Given the description of an element on the screen output the (x, y) to click on. 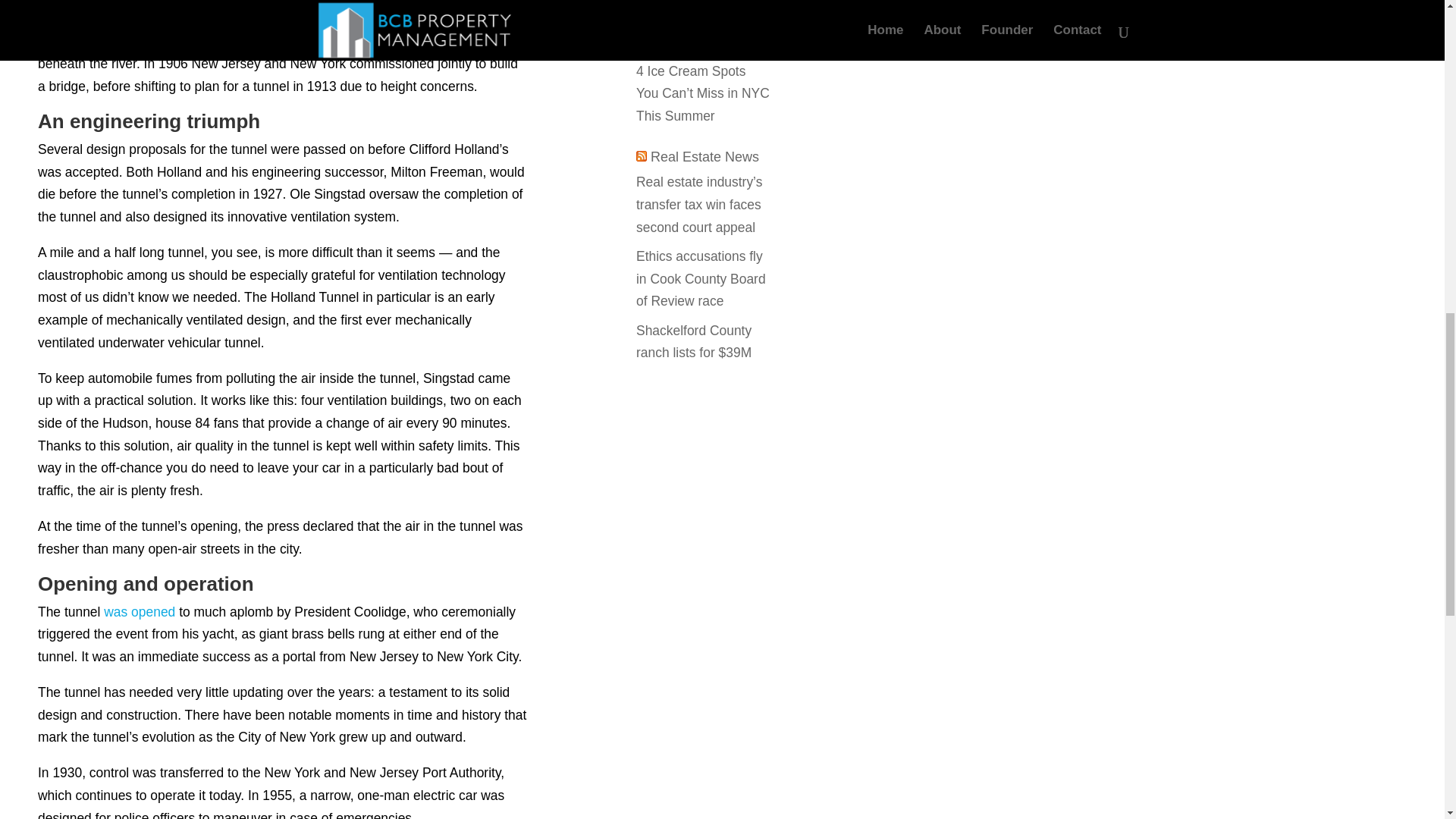
was opened (138, 611)
Real Estate News (704, 156)
Everything You Need to Know About Broadway Week 2019 (700, 24)
Ethics accusations fly in Cook County Board of Review race (700, 278)
